Given the description of an element on the screen output the (x, y) to click on. 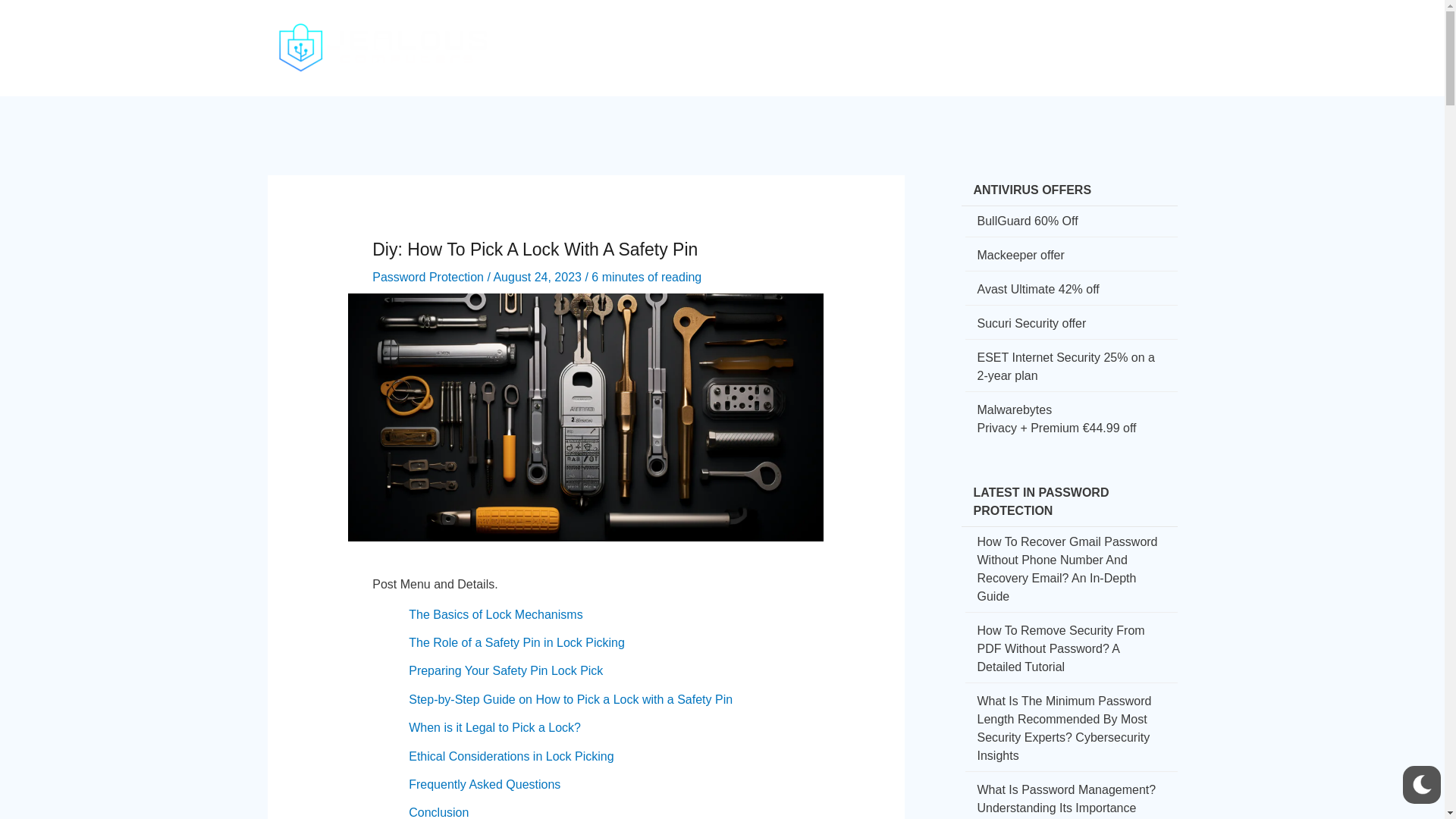
Password Protection (427, 277)
Misc (1122, 35)
Preparing Your Safety Pin Lock Pick (505, 670)
The Role of a Safety Pin in Lock Picking (516, 642)
Social (863, 35)
How-To (802, 35)
Cyber Security (713, 35)
Gaming (999, 35)
Conclusion (438, 812)
Ethical Considerations in Lock Picking (510, 756)
Step-by-Step Guide on How to Pick a Lock with a Safety Pin (570, 698)
10 Best (1064, 35)
Finances (929, 35)
Search (1162, 37)
When is it Legal to Pick a Lock? (494, 727)
